Given the description of an element on the screen output the (x, y) to click on. 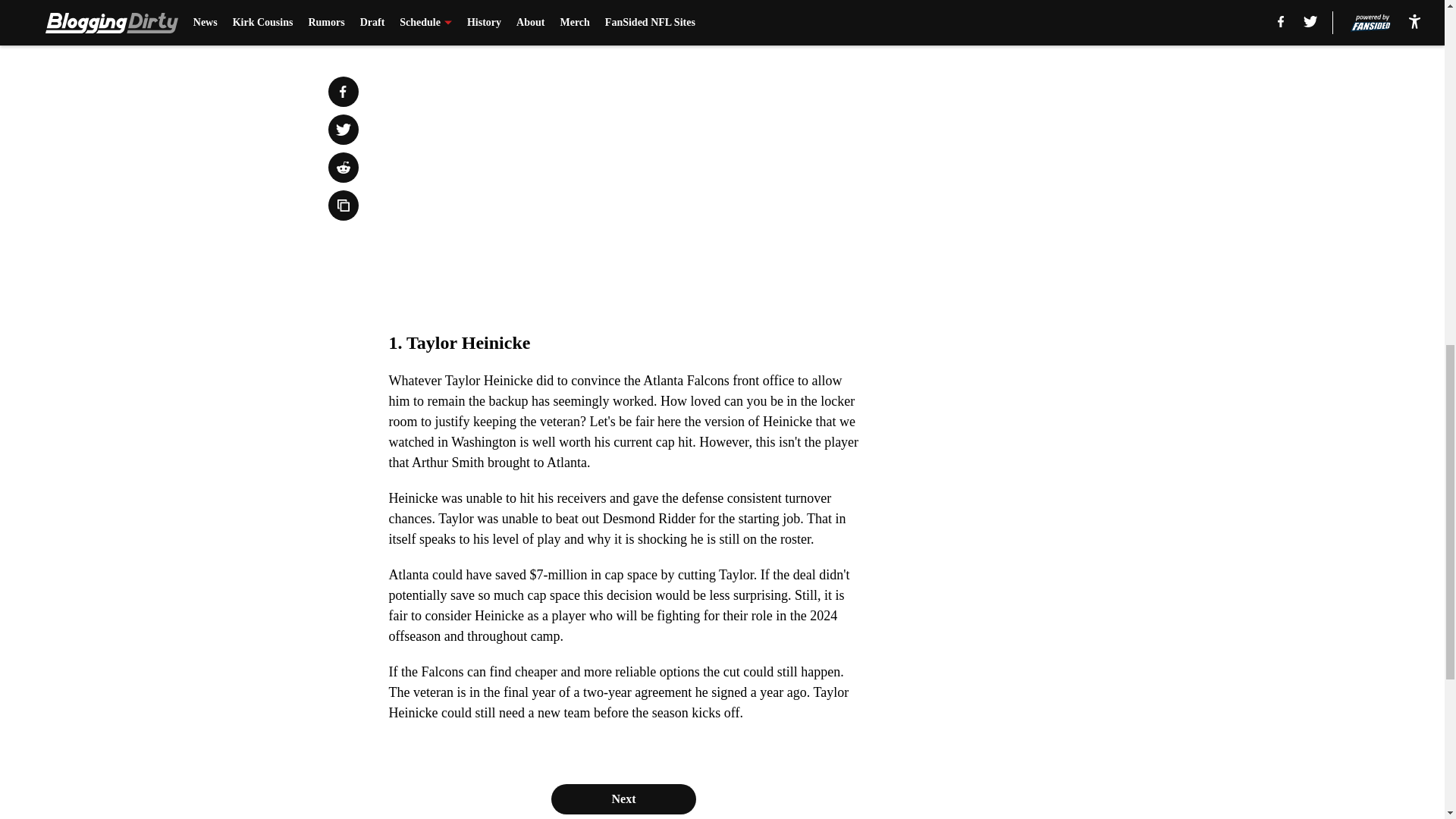
Next (622, 798)
Prev (433, 20)
Next (813, 20)
